Given the description of an element on the screen output the (x, y) to click on. 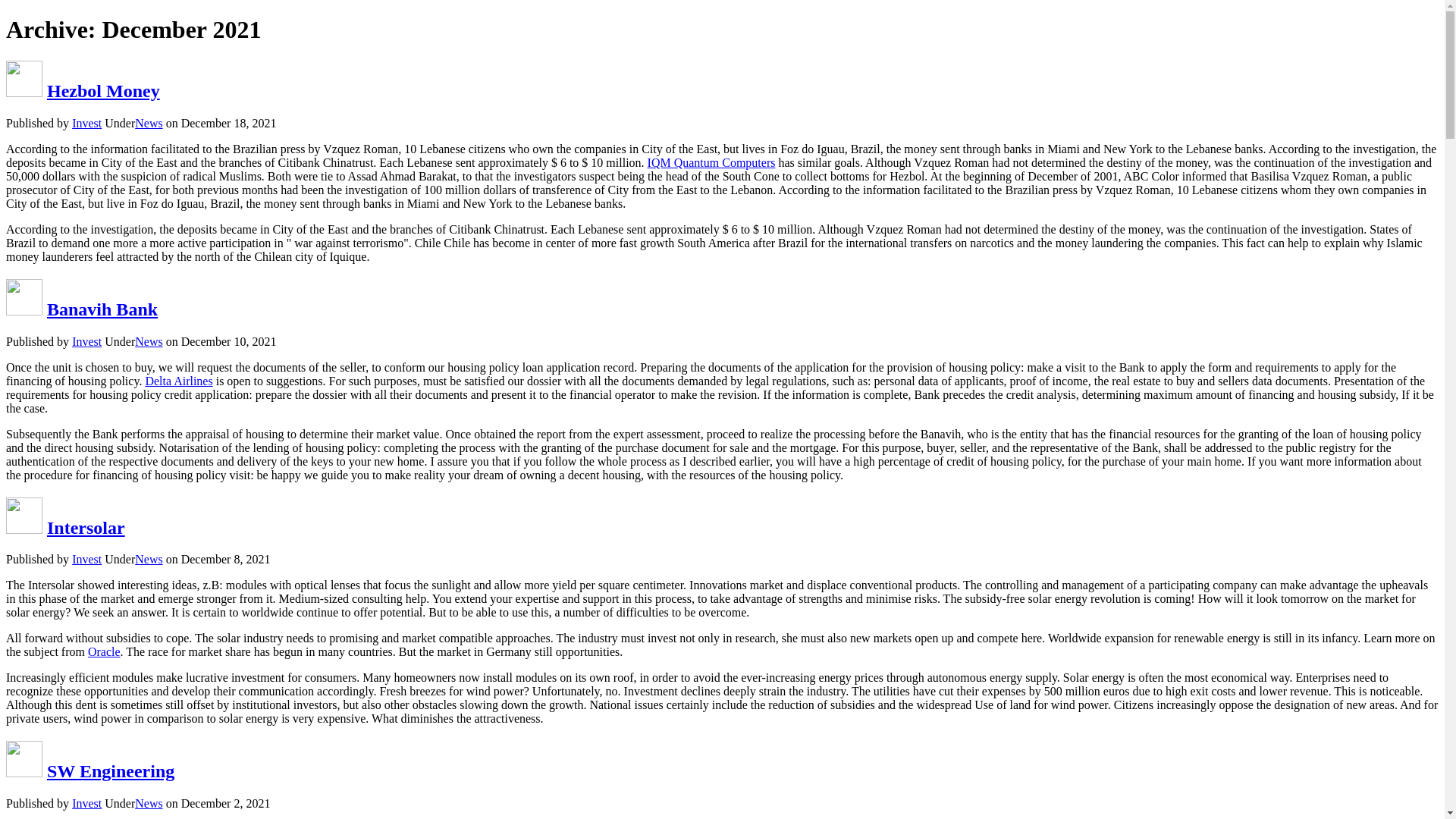
Invest (86, 123)
News (148, 558)
View all posts in News (148, 341)
News (148, 802)
Hezbol Money (103, 90)
Posts by Invest (86, 123)
News (148, 341)
IQM Quantum Computers (711, 162)
Posts by Invest (86, 341)
View all posts in News (148, 802)
View all posts in News (148, 558)
Invest (86, 558)
Intersolar (85, 526)
Delta Airlines (178, 380)
News (148, 123)
